Given the description of an element on the screen output the (x, y) to click on. 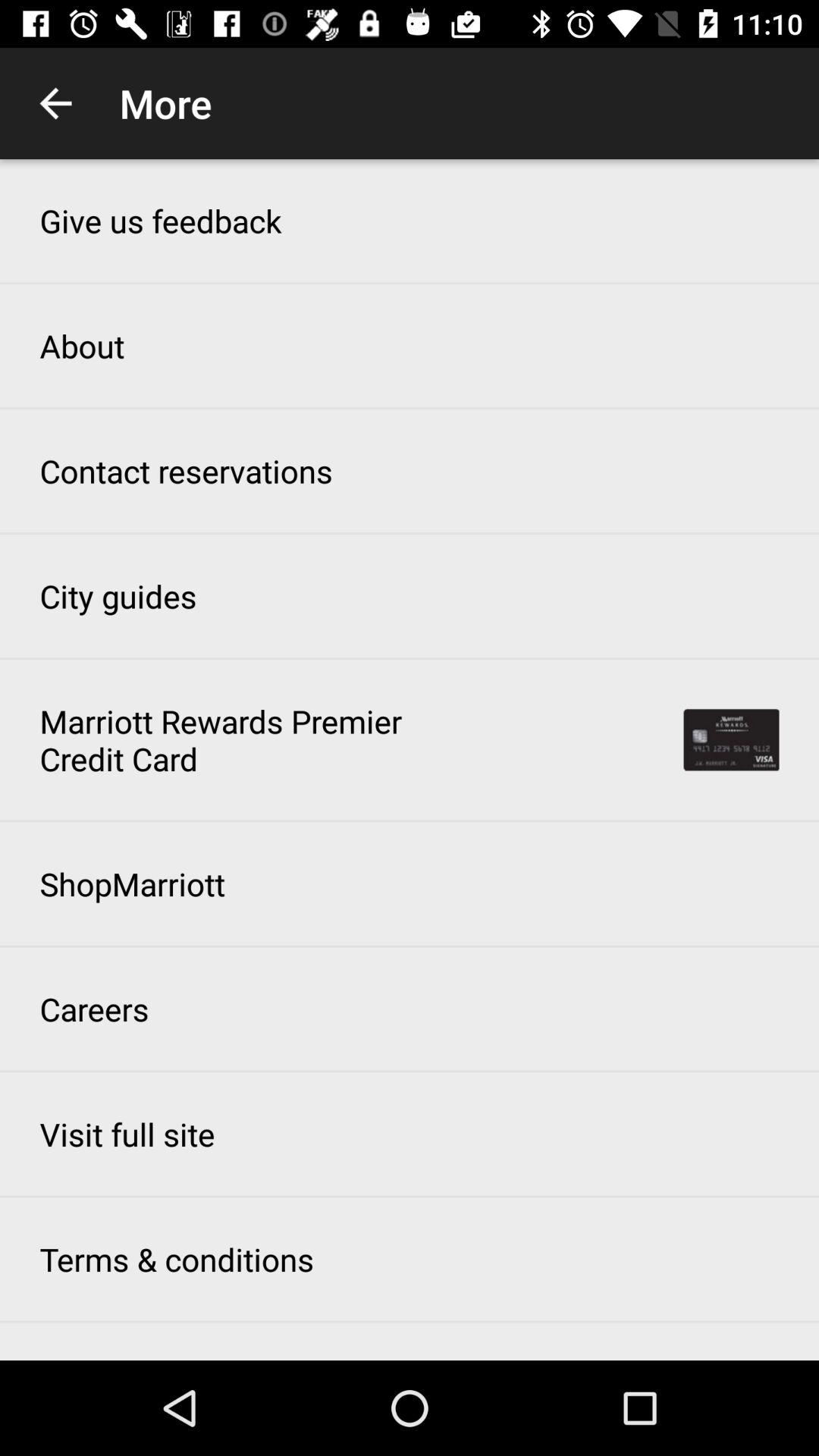
press shopmarriott (132, 883)
